Given the description of an element on the screen output the (x, y) to click on. 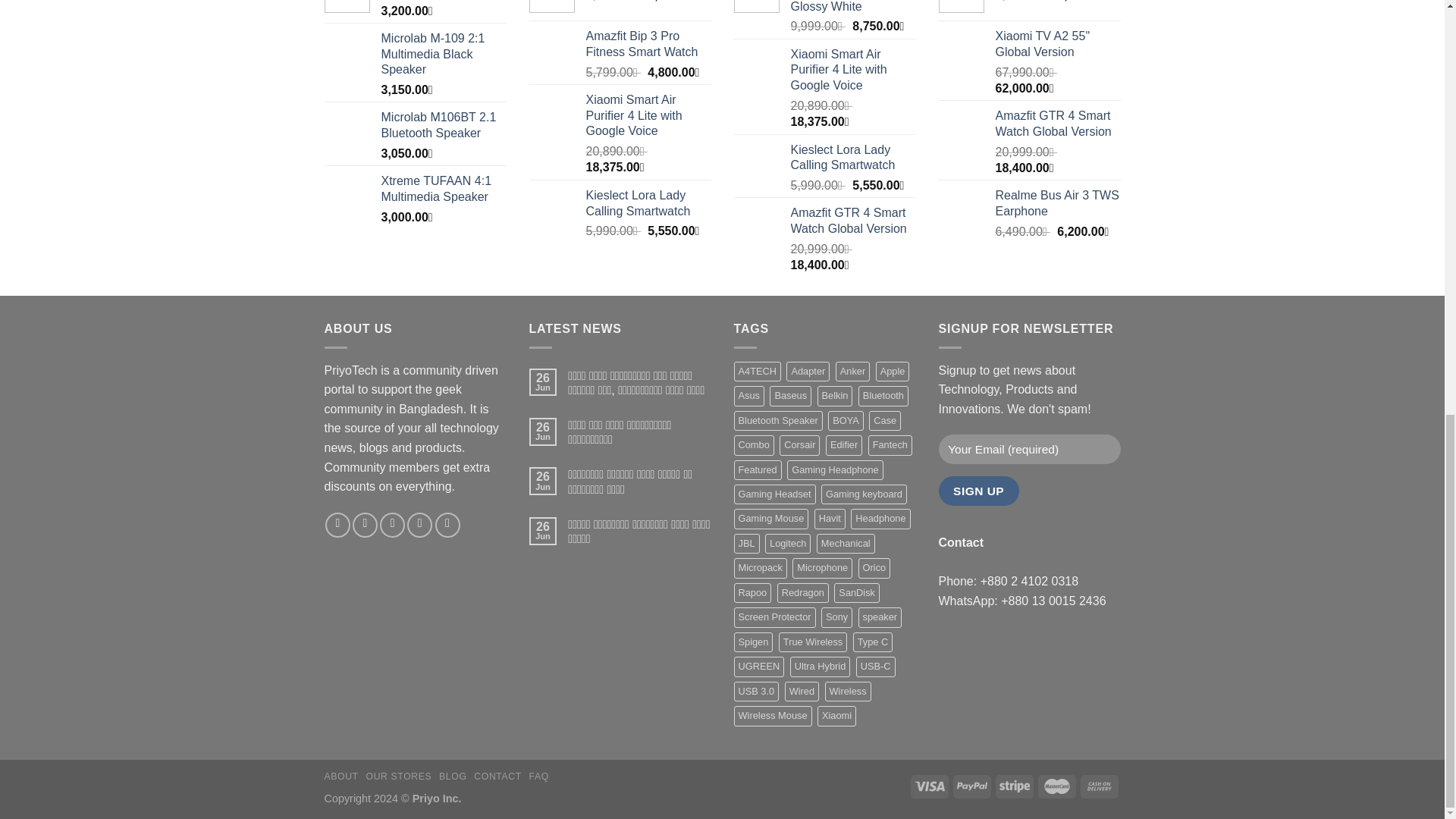
Follow on Twitter (392, 524)
Sign Up (979, 490)
Follow on Facebook (337, 524)
Follow on Instagram (364, 524)
Send us an email (419, 524)
Follow on LinkedIn (447, 524)
